Given the description of an element on the screen output the (x, y) to click on. 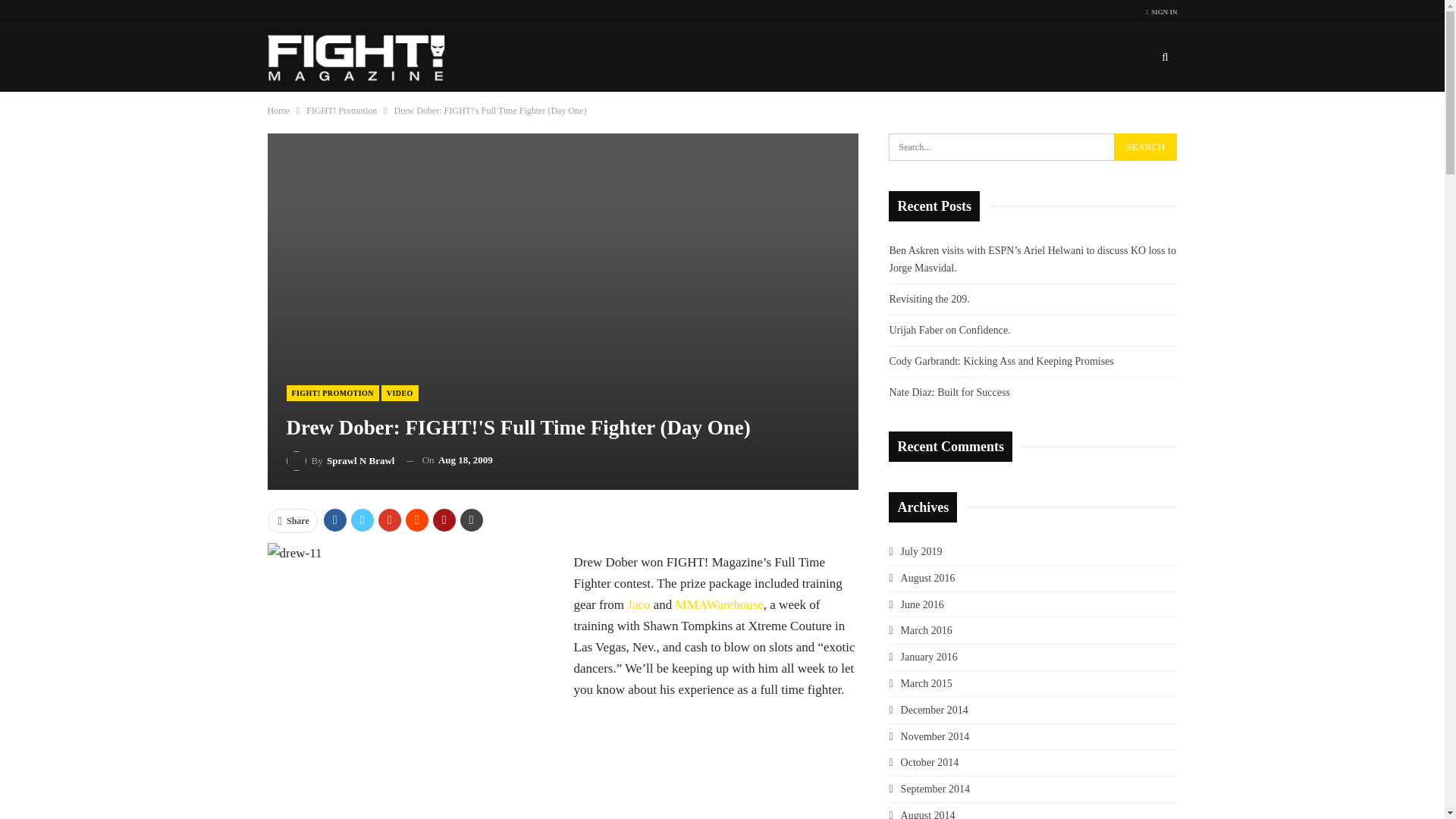
Jaco (638, 604)
Search (1144, 146)
SIGN IN (1161, 12)
FIGHT! PROMOTION (332, 392)
drew-11 (411, 680)
Search (1144, 146)
VIDEO (400, 392)
Home (277, 110)
FIGHT! Promotion (341, 110)
Browse Author Articles (340, 460)
